Given the description of an element on the screen output the (x, y) to click on. 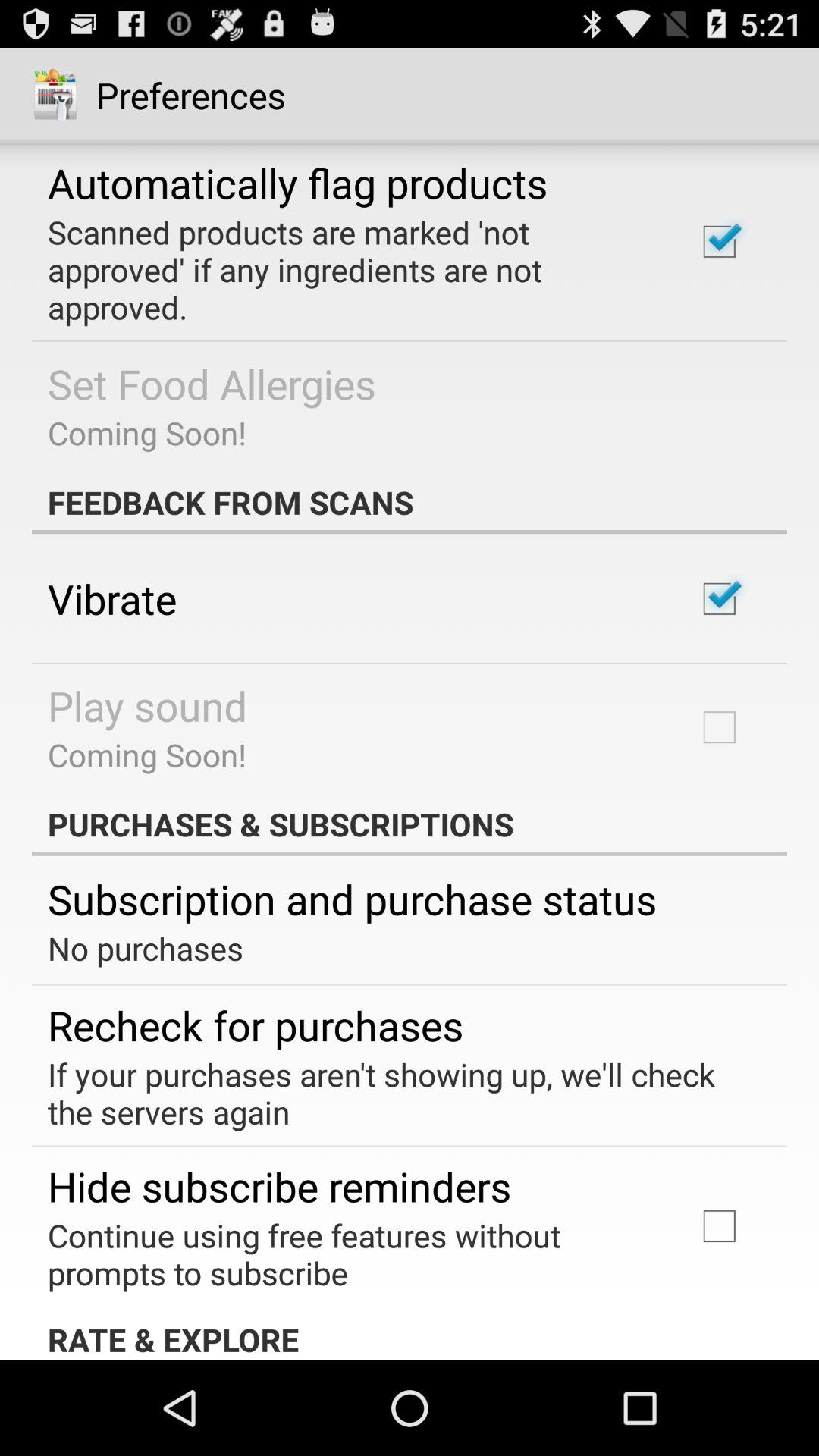
choose the icon below if your purchases app (279, 1185)
